Given the description of an element on the screen output the (x, y) to click on. 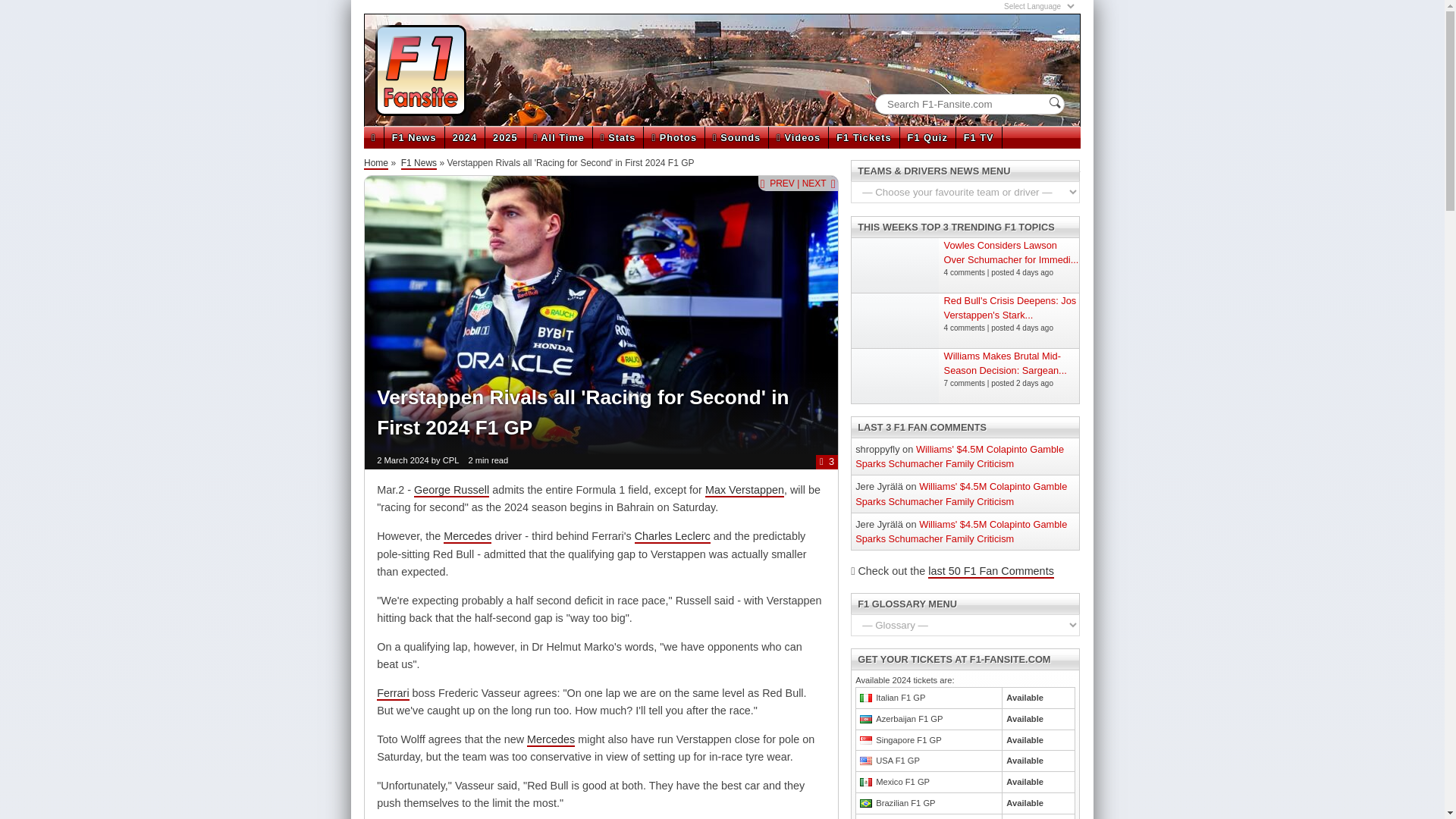
Photos (673, 137)
F1 TV (978, 137)
George Russell (451, 490)
Mercedes (551, 739)
Home (376, 163)
Stats (617, 137)
F1 Quiz (927, 137)
Sounds (736, 137)
F1 TV subscription (978, 137)
All Time F1 info (558, 137)
